Given the description of an element on the screen output the (x, y) to click on. 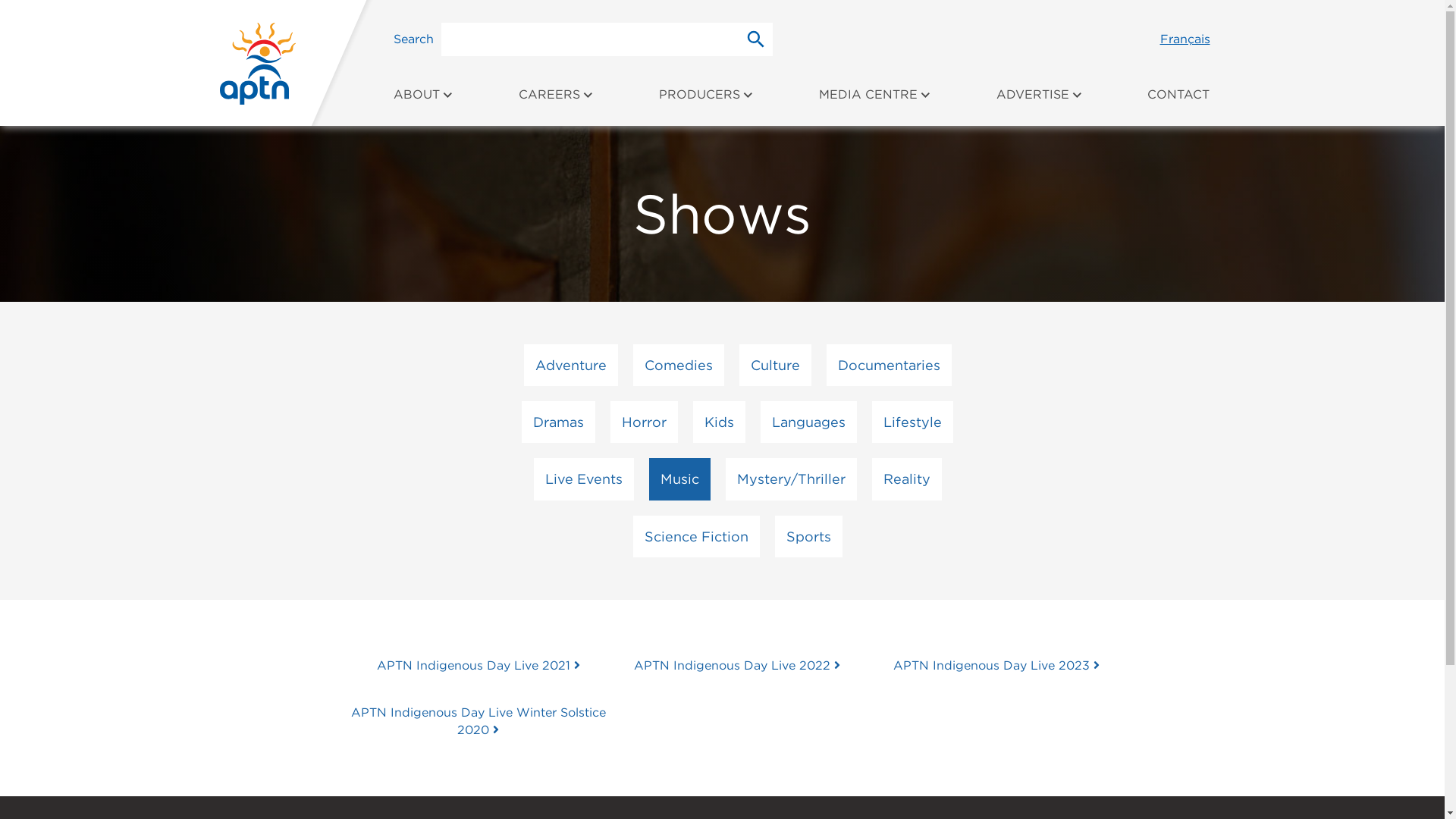
Reality Element type: text (906, 478)
CONTACT Element type: text (1178, 101)
Culture Element type: text (774, 364)
CAREERS Element type: text (555, 101)
Search Element type: text (755, 39)
APTN Indigenous Day Live 2022 Element type: text (736, 665)
PRODUCERS Element type: text (705, 101)
ADVERTISE Element type: text (1039, 101)
Sports Element type: text (808, 536)
Dramas Element type: text (558, 421)
Languages Element type: text (808, 421)
Mystery/Thriller Element type: text (790, 478)
MEDIA CENTRE Element type: text (875, 101)
Documentaries Element type: text (888, 364)
APTN Indigenous Day Live Winter Solstice 2020 Element type: text (478, 720)
Science Fiction Element type: text (695, 536)
APTN Indigenous Day Live 2021 Element type: text (478, 665)
Lifestyle Element type: text (912, 421)
Kids Element type: text (719, 421)
APTN Indigenous Day Live 2023 Element type: text (996, 665)
Horror Element type: text (643, 421)
Adventure Element type: text (570, 364)
Comedies Element type: text (677, 364)
Music Element type: text (679, 478)
Live Events Element type: text (583, 478)
ABOUT Element type: text (423, 101)
